Given the description of an element on the screen output the (x, y) to click on. 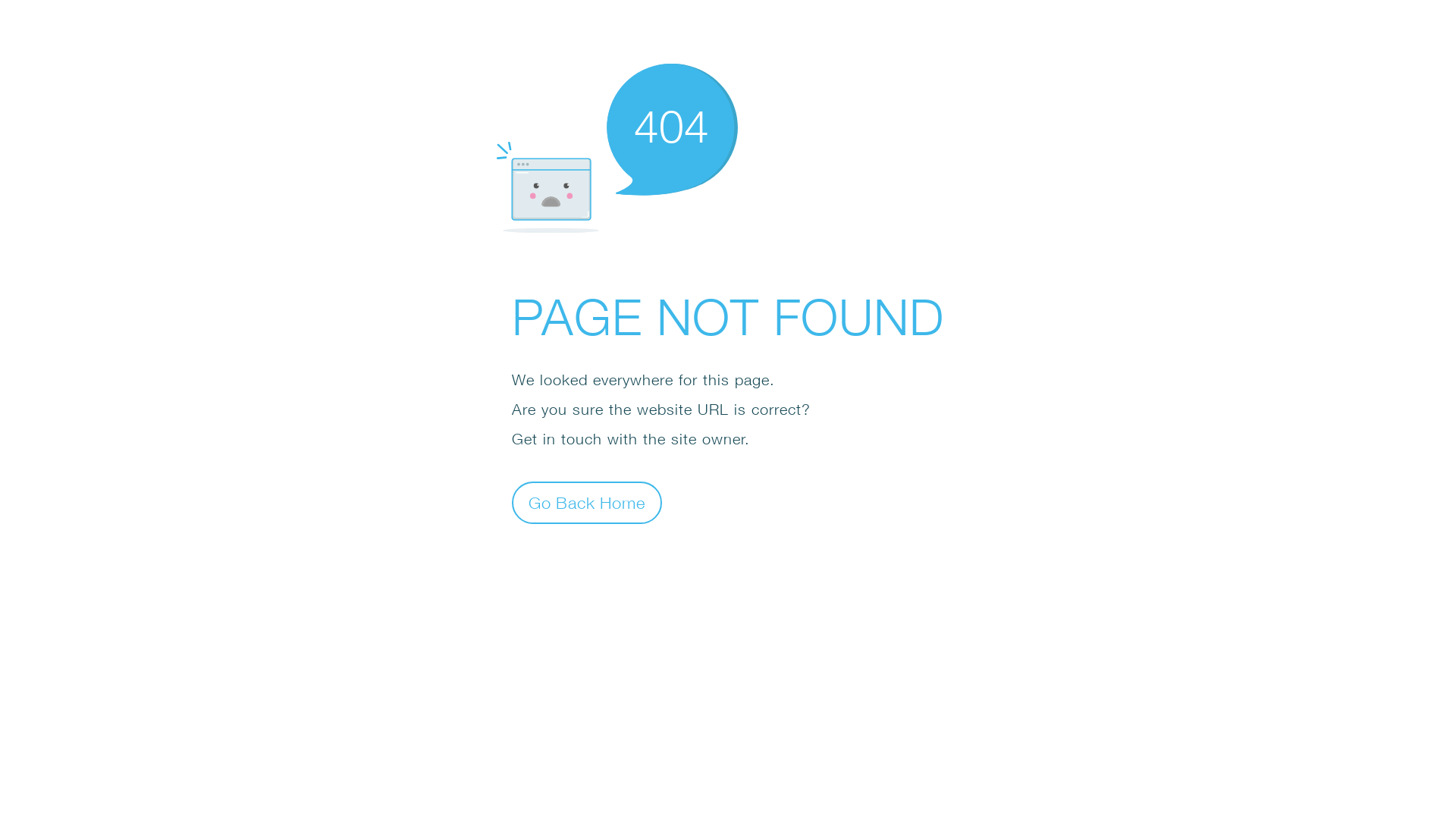
Go Back Home Element type: text (586, 502)
